Given the description of an element on the screen output the (x, y) to click on. 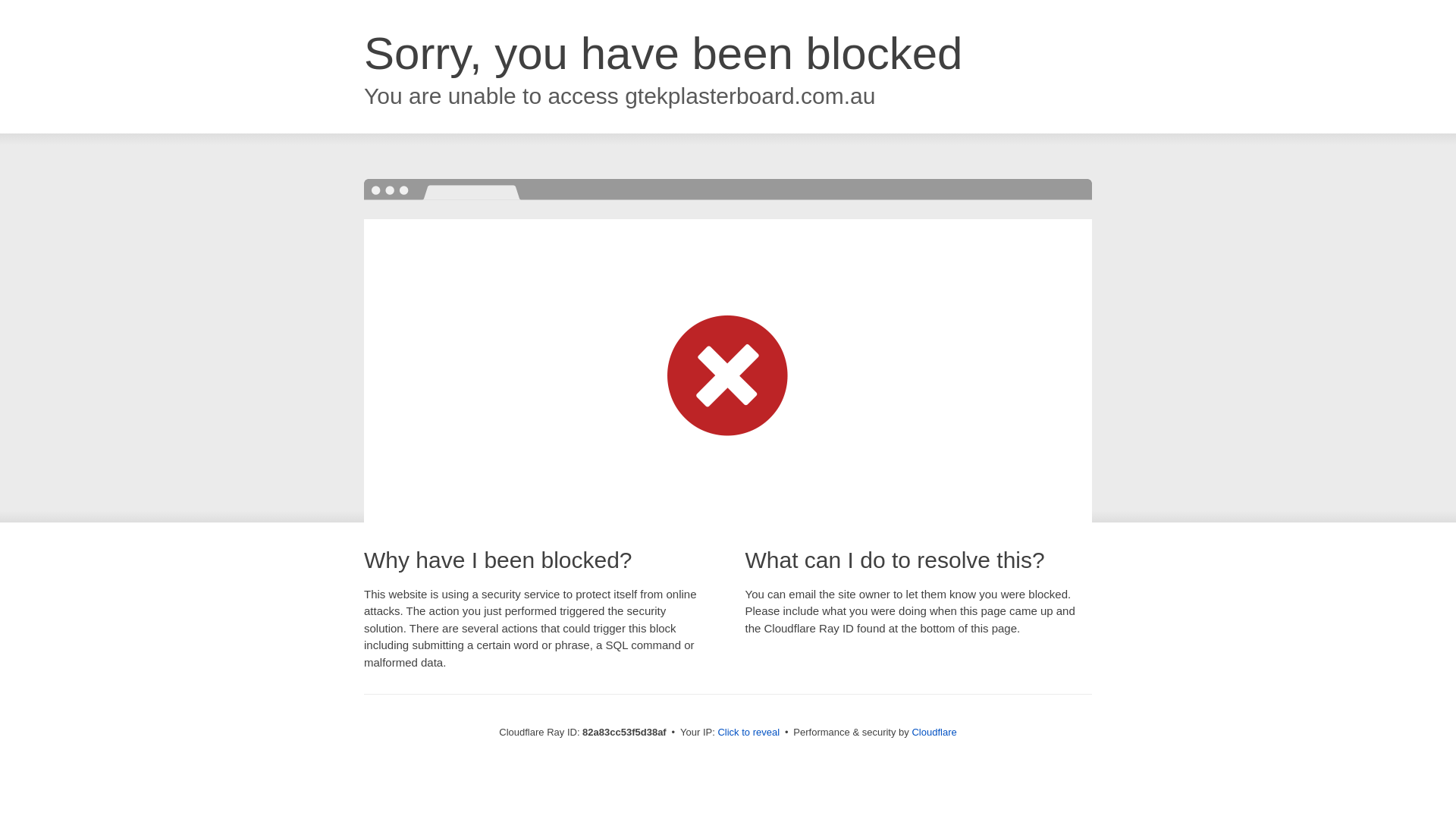
Cloudflare Element type: text (933, 731)
Click to reveal Element type: text (748, 732)
